Given the description of an element on the screen output the (x, y) to click on. 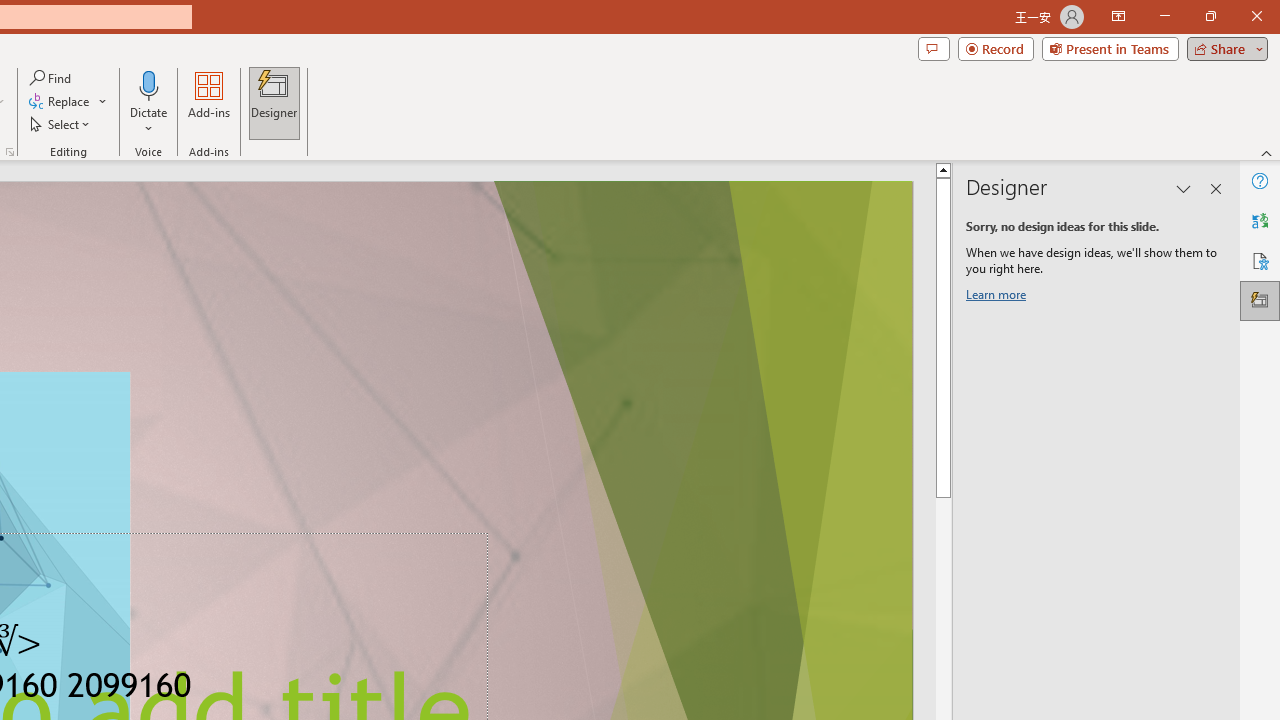
Learn more (998, 297)
